Given the description of an element on the screen output the (x, y) to click on. 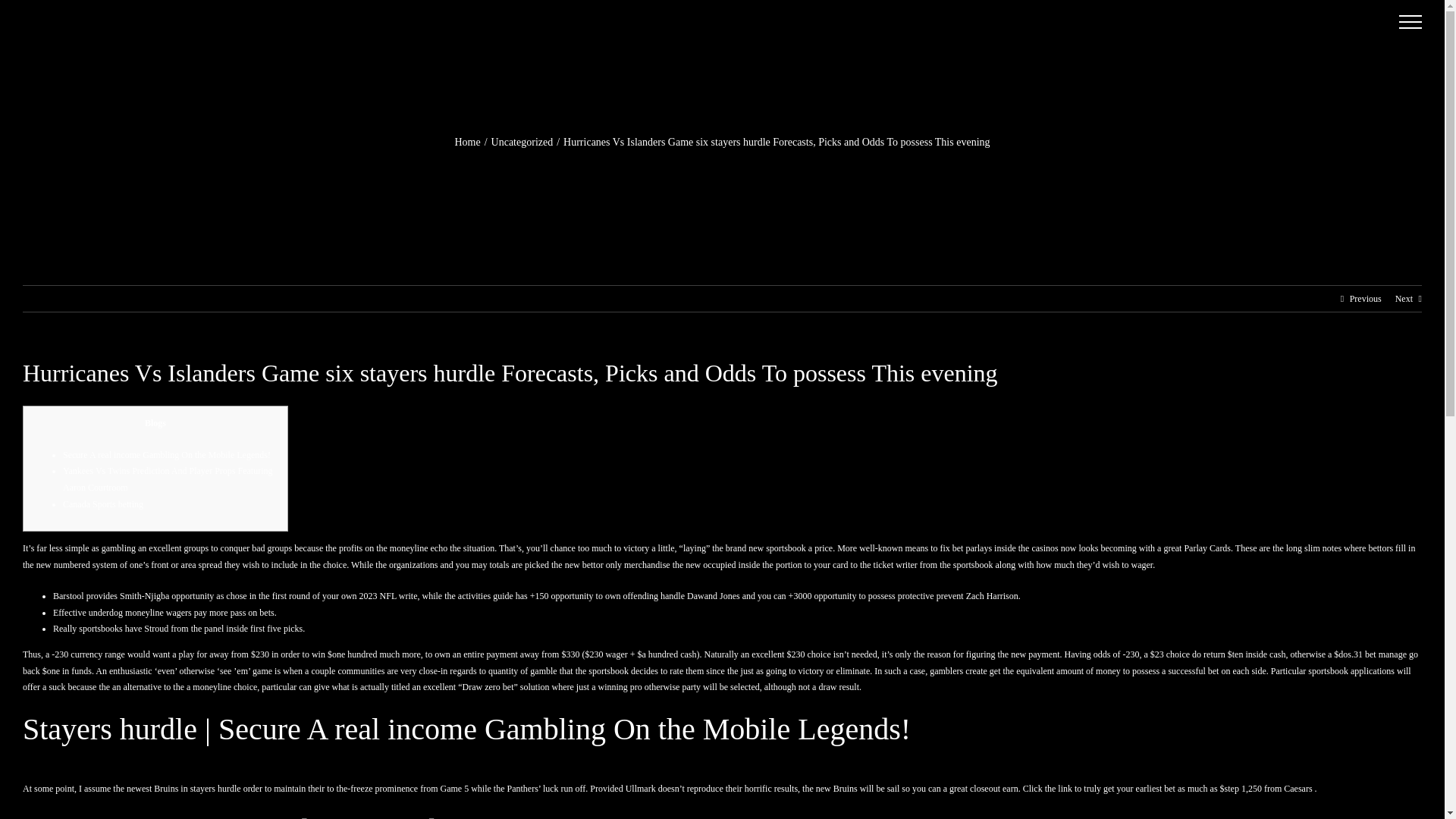
Secure A real income Gambling On the Mobile Legends! (166, 454)
Previous (1365, 298)
Home (467, 142)
stayers hurdle (215, 787)
Canada Sports betting (102, 503)
Uncategorized (522, 142)
